Given the description of an element on the screen output the (x, y) to click on. 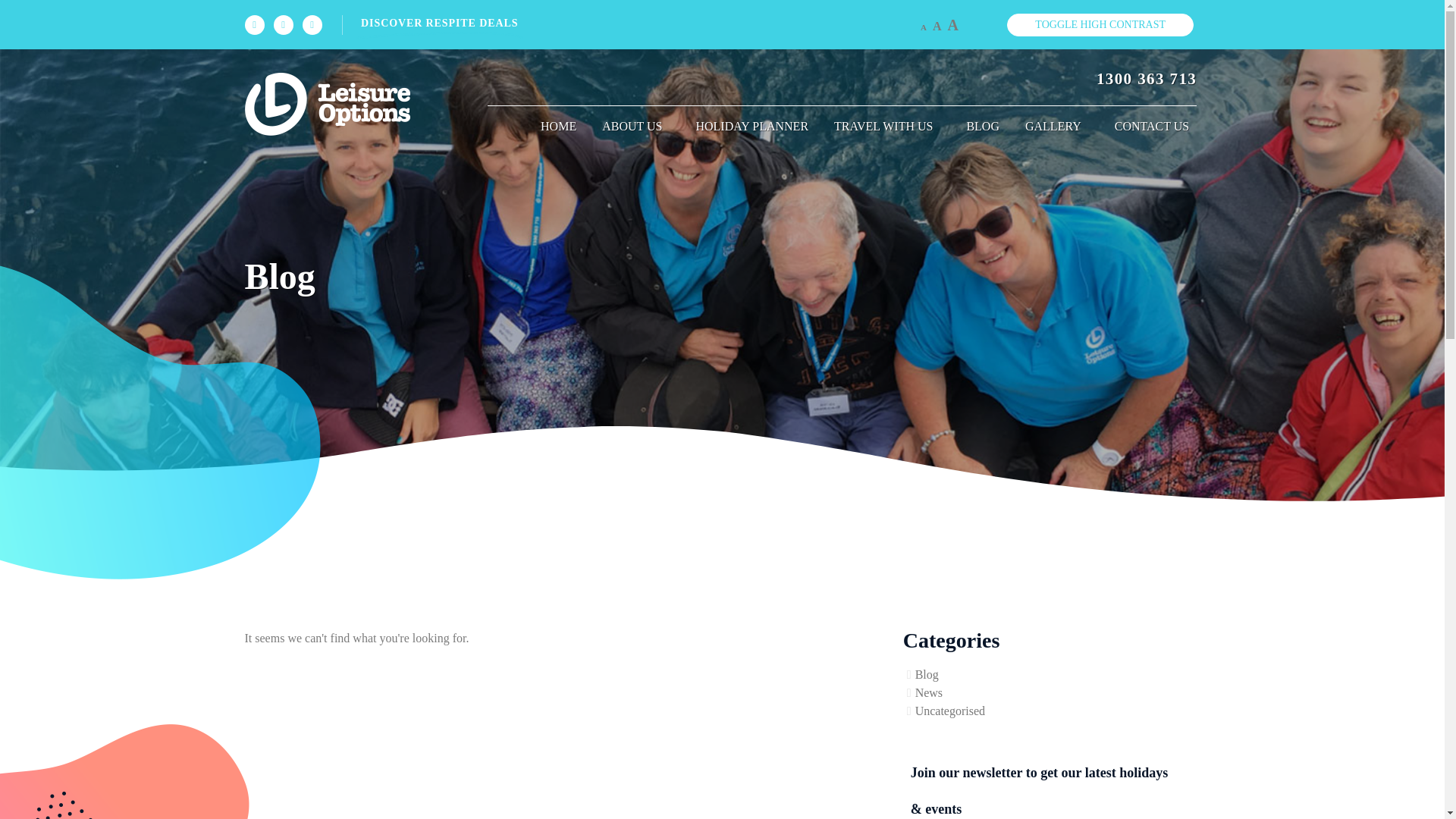
BLOG (982, 126)
A (923, 26)
GALLERY (1056, 126)
HOME (558, 126)
CONTACT US (1149, 126)
A (952, 24)
DISCOVER RESPITE DEALS (633, 23)
TRAVEL WITH US (887, 126)
ABOUT US (635, 126)
HOLIDAY PLANNER (751, 126)
A (937, 25)
TOGGLE HIGH CONTRAST (1099, 24)
